Given the description of an element on the screen output the (x, y) to click on. 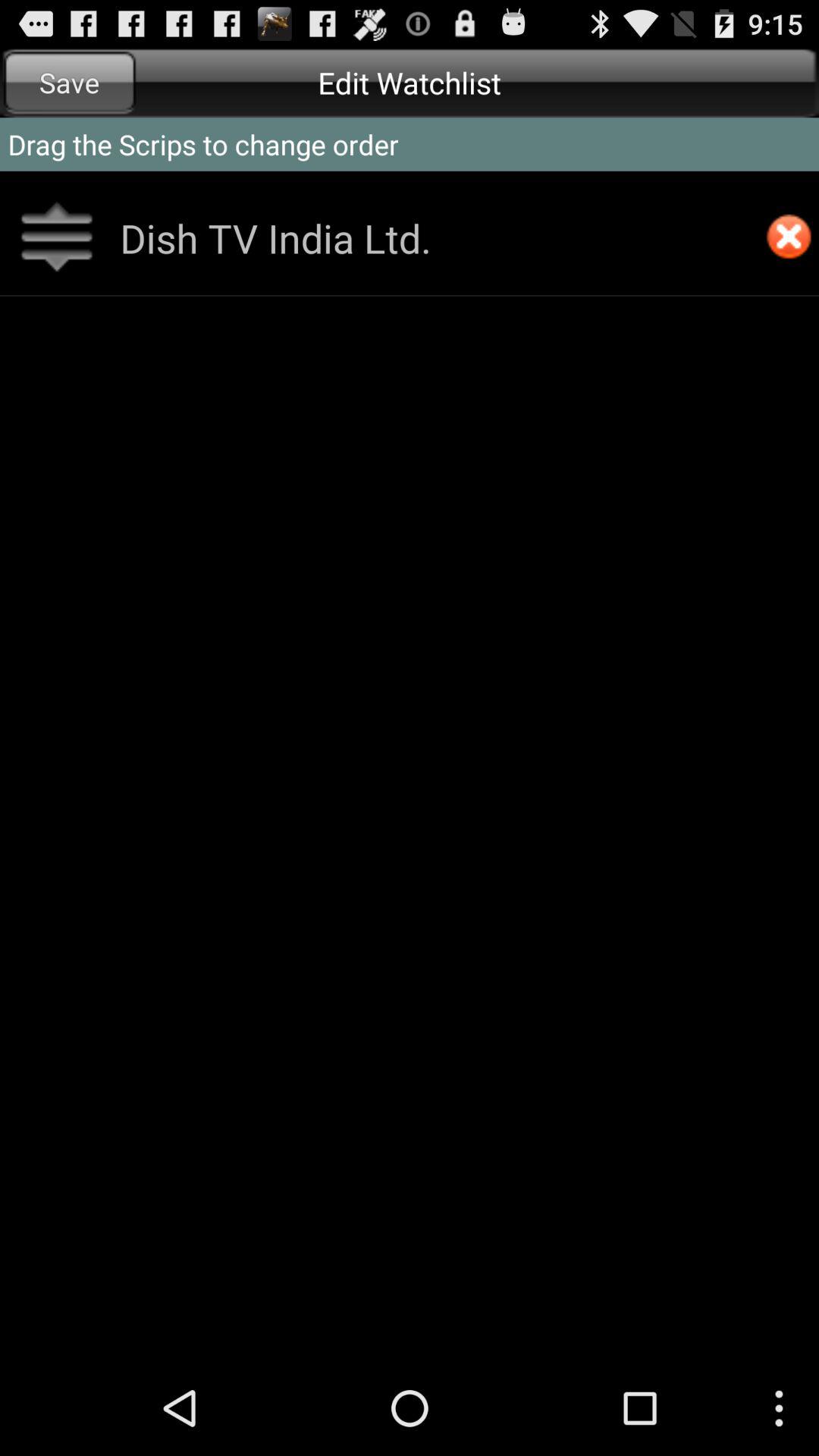
remove the watchlist (788, 238)
